Given the description of an element on the screen output the (x, y) to click on. 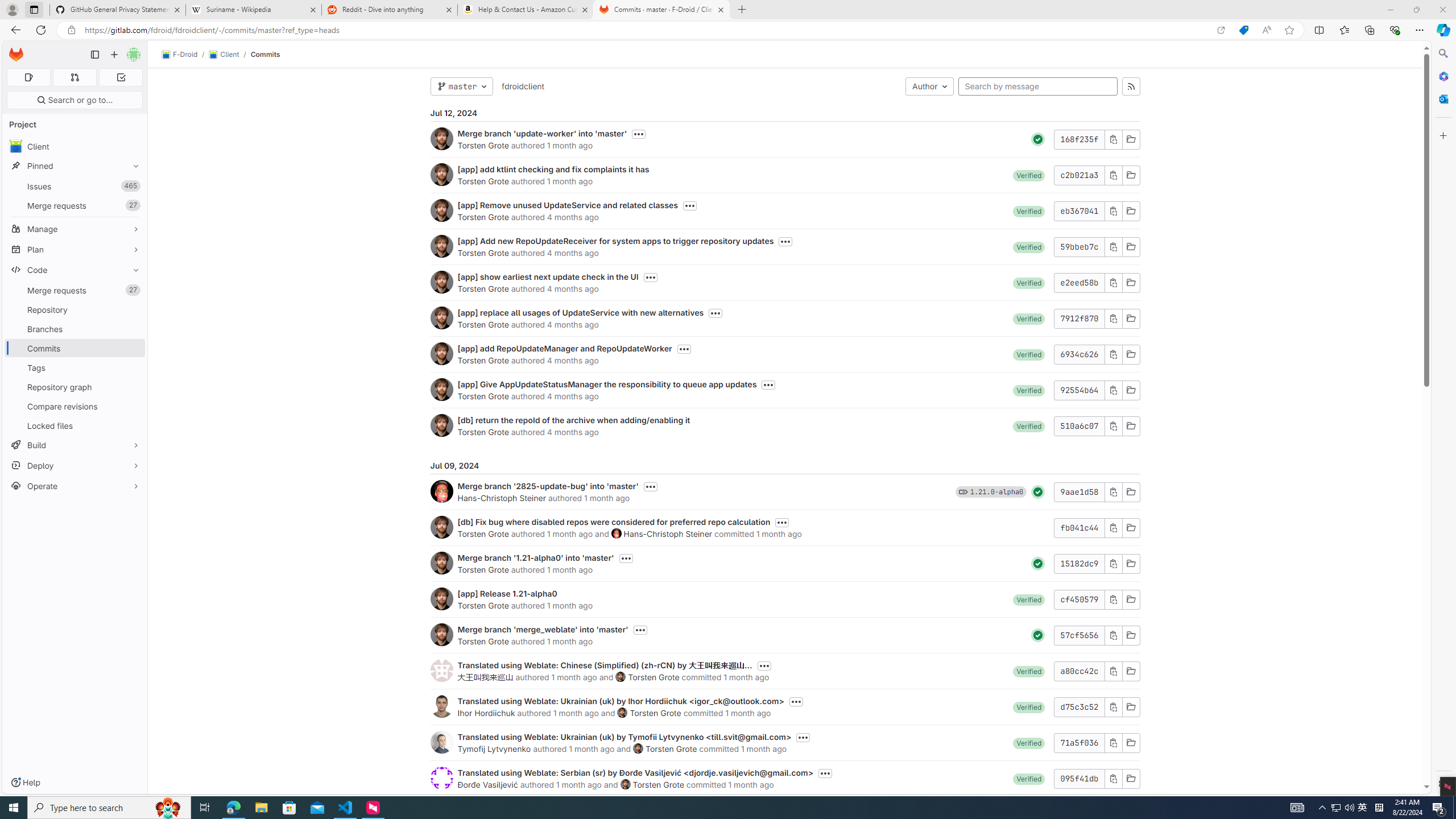
Pin Tags (132, 367)
Tymofij Lytvynenko's avatar (440, 741)
File Explorer (261, 807)
Browser essentials (1394, 29)
Shopping in Microsoft Edge (1243, 29)
Plan (74, 248)
Build (74, 444)
Merge requests 27 (74, 289)
Compare revisions (74, 406)
Pin Repository graph (132, 386)
